Given the description of an element on the screen output the (x, y) to click on. 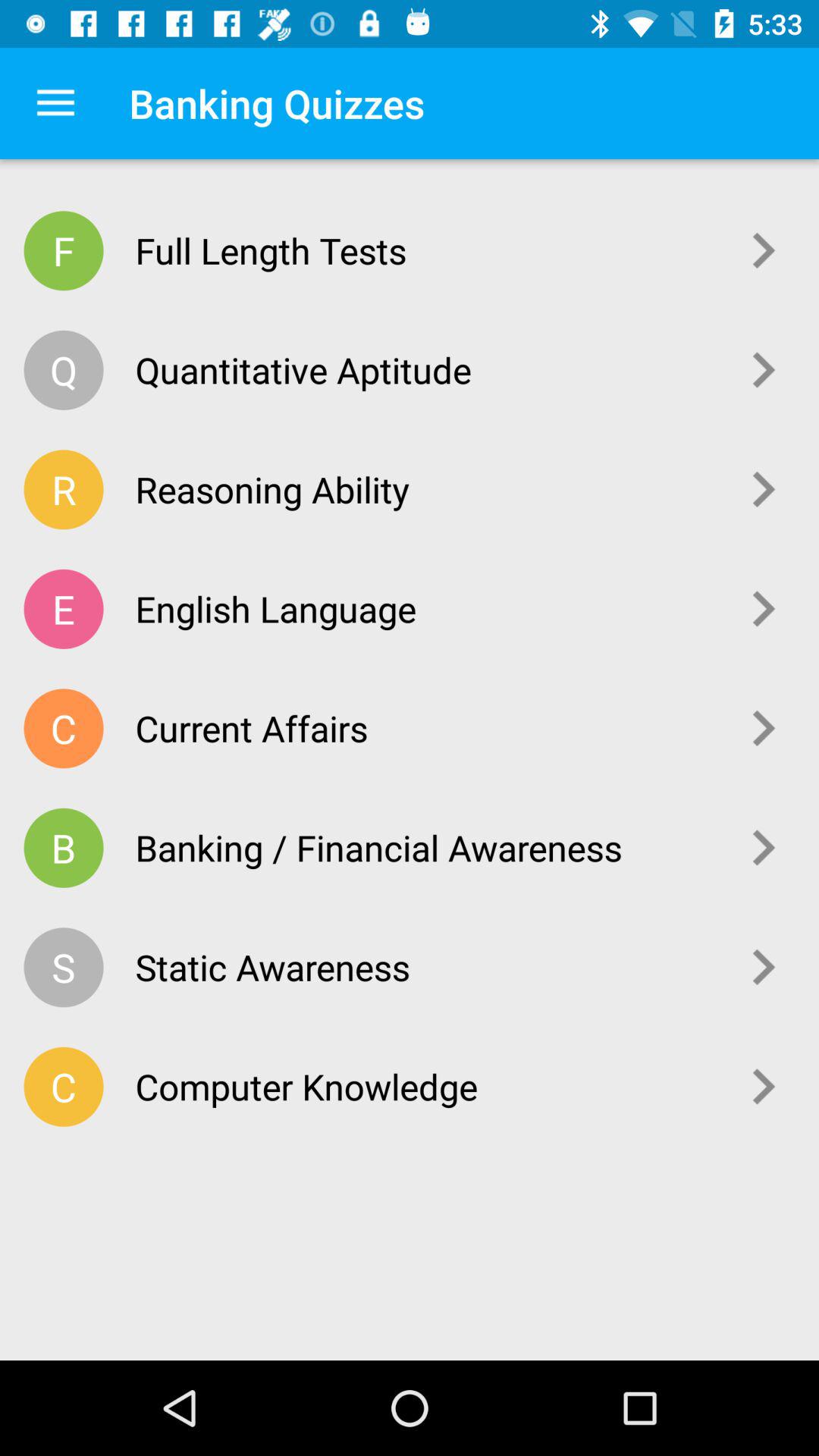
launch the icon above f item (55, 103)
